Given the description of an element on the screen output the (x, y) to click on. 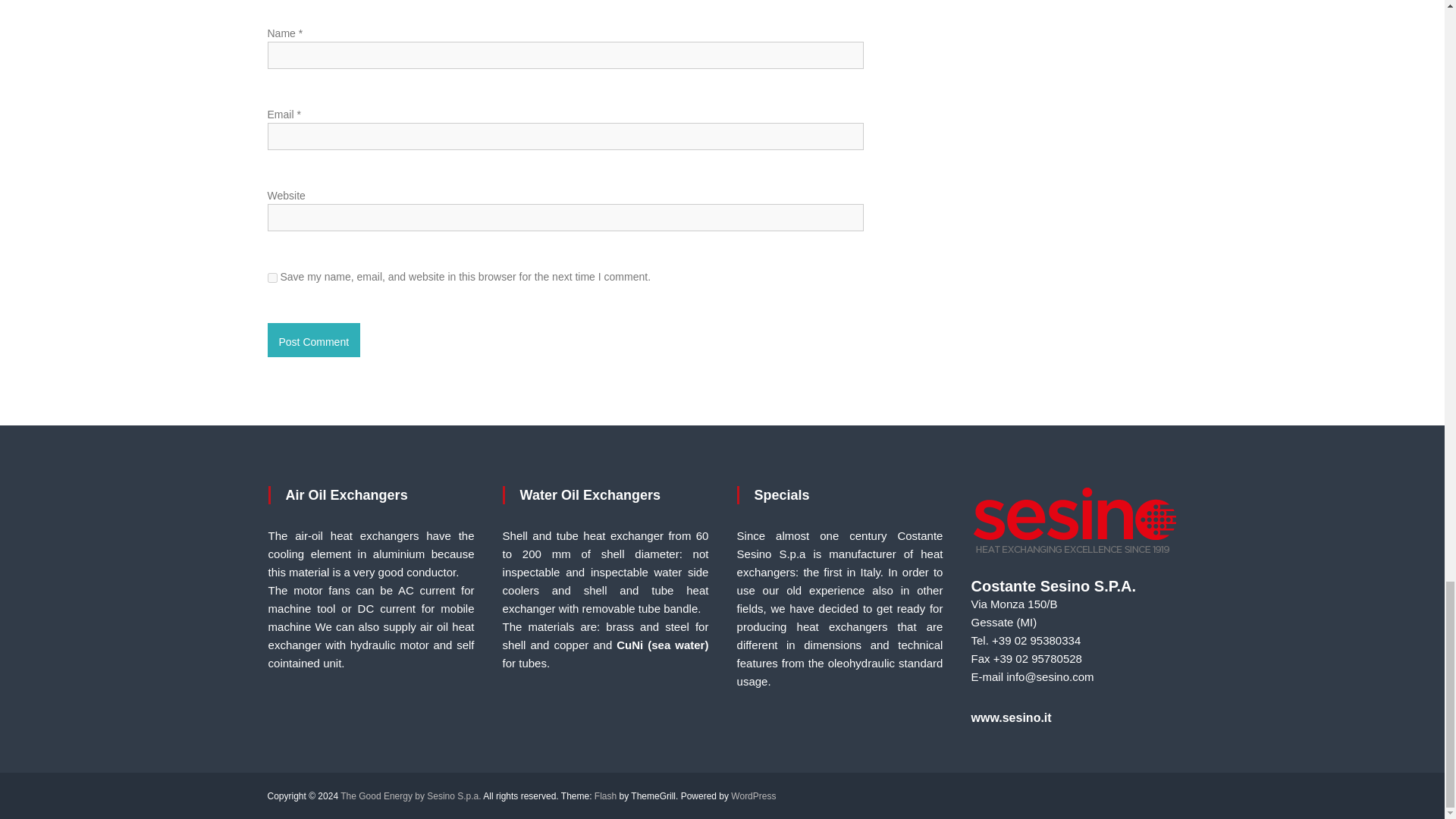
yes (271, 277)
Post Comment (312, 339)
Post Comment (312, 339)
